Given the description of an element on the screen output the (x, y) to click on. 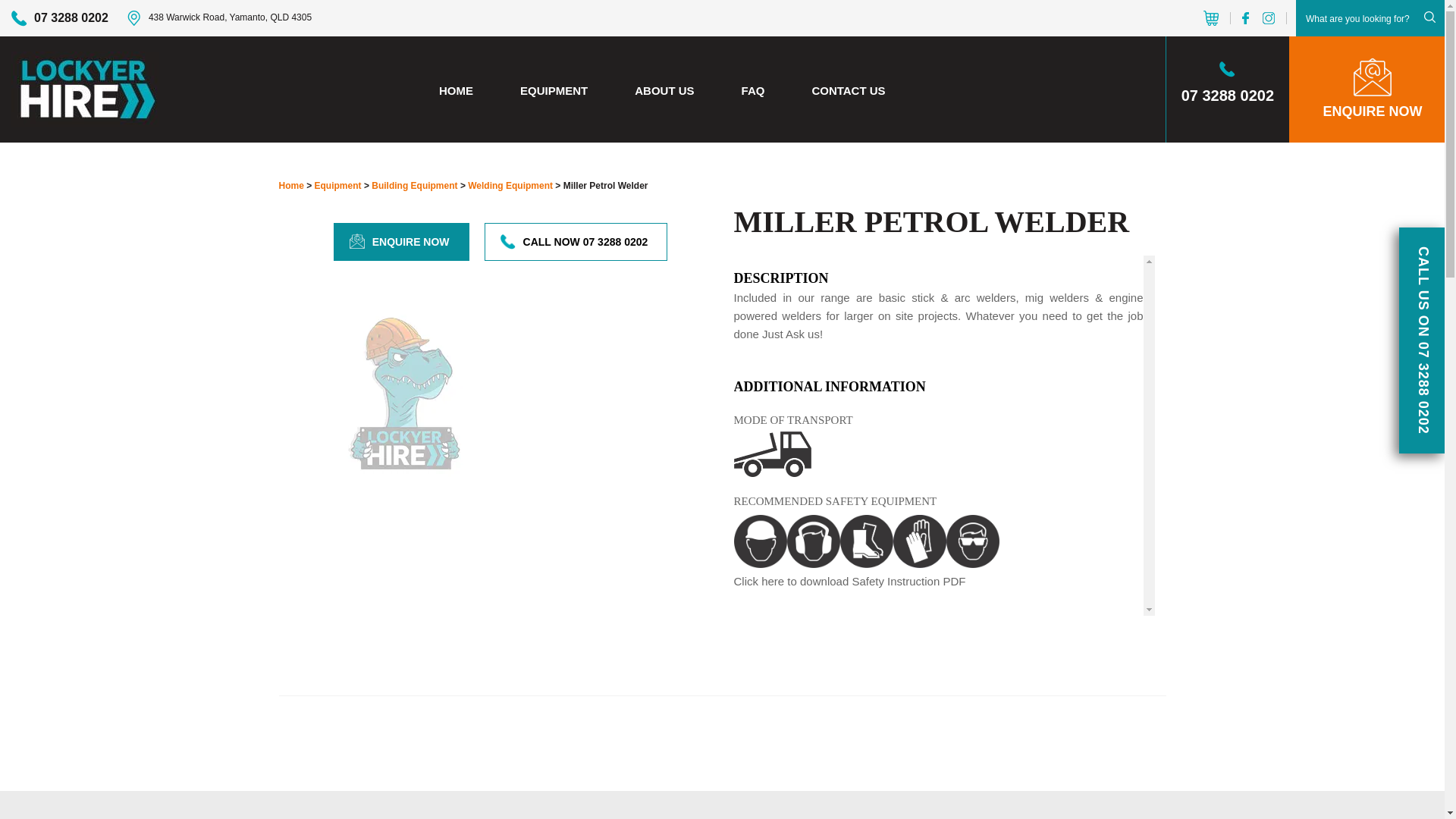
instagram Element type: text (1268, 18)
CALL NOW 07 3288 0202 Element type: text (576, 241)
Welding Equipment Element type: text (509, 185)
HOME Element type: text (455, 90)
Click here to download Safety Instruction PDF Element type: text (850, 580)
CALL US ON 07 3288 0202 Element type: text (1421, 340)
CONTACT US Element type: text (847, 90)
FAQ Element type: text (752, 90)
Building Equipment Element type: text (415, 185)
Home Element type: text (293, 185)
EQUIPMENT Element type: text (553, 90)
ABOUT US Element type: text (663, 90)
07 3288 0202 Element type: text (1227, 88)
Submit Element type: text (1429, 16)
07 3288 0202 Element type: text (59, 18)
Lockyer Hire Element type: hover (85, 87)
ENQUIRE NOW Element type: text (401, 241)
Equipment Element type: text (339, 185)
facebook Element type: text (1248, 18)
View Your Cart Element type: text (1210, 17)
